Given the description of an element on the screen output the (x, y) to click on. 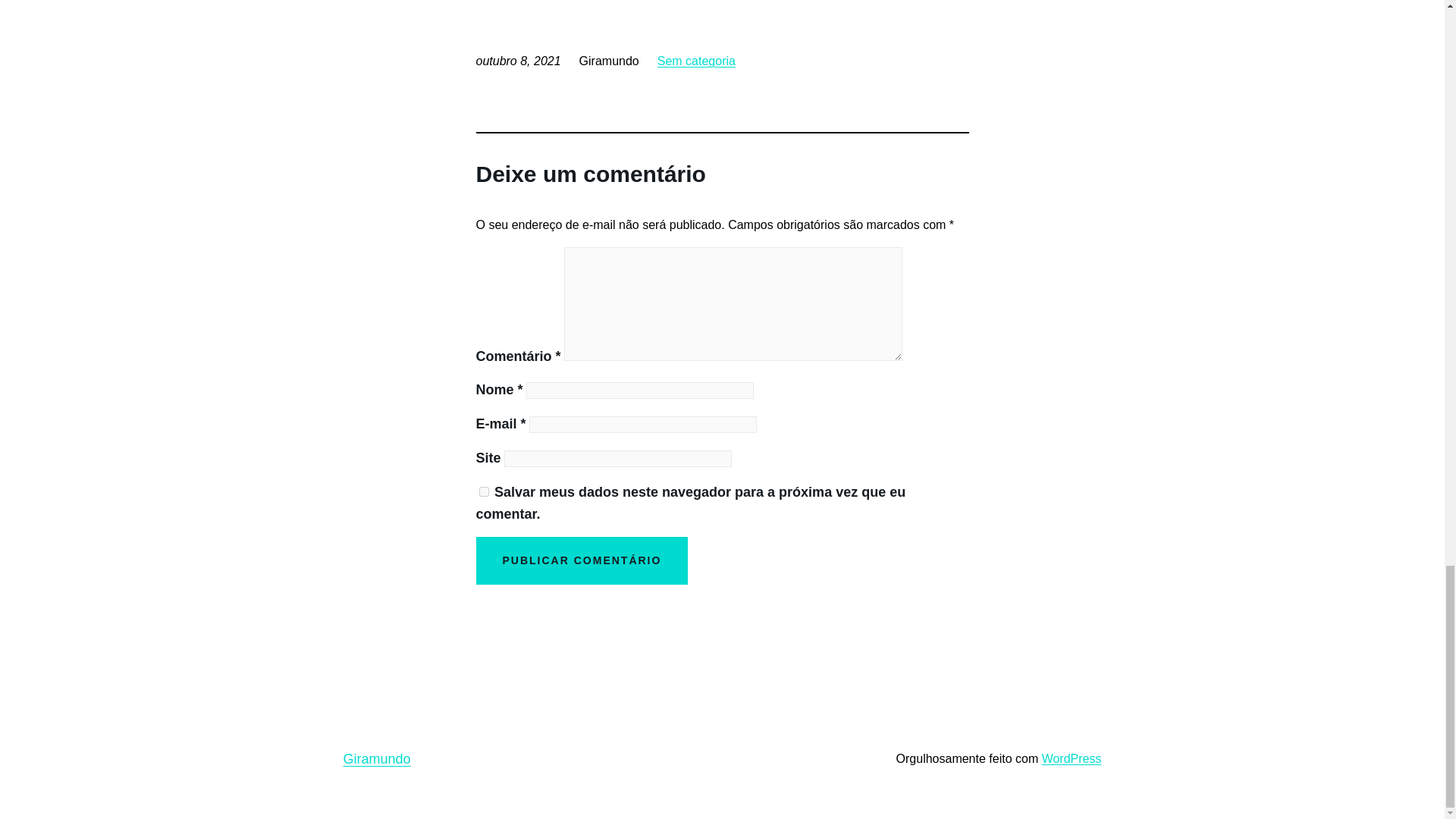
yes (484, 491)
Sem categoria (696, 60)
WordPress (1072, 758)
Giramundo (376, 758)
